Given the description of an element on the screen output the (x, y) to click on. 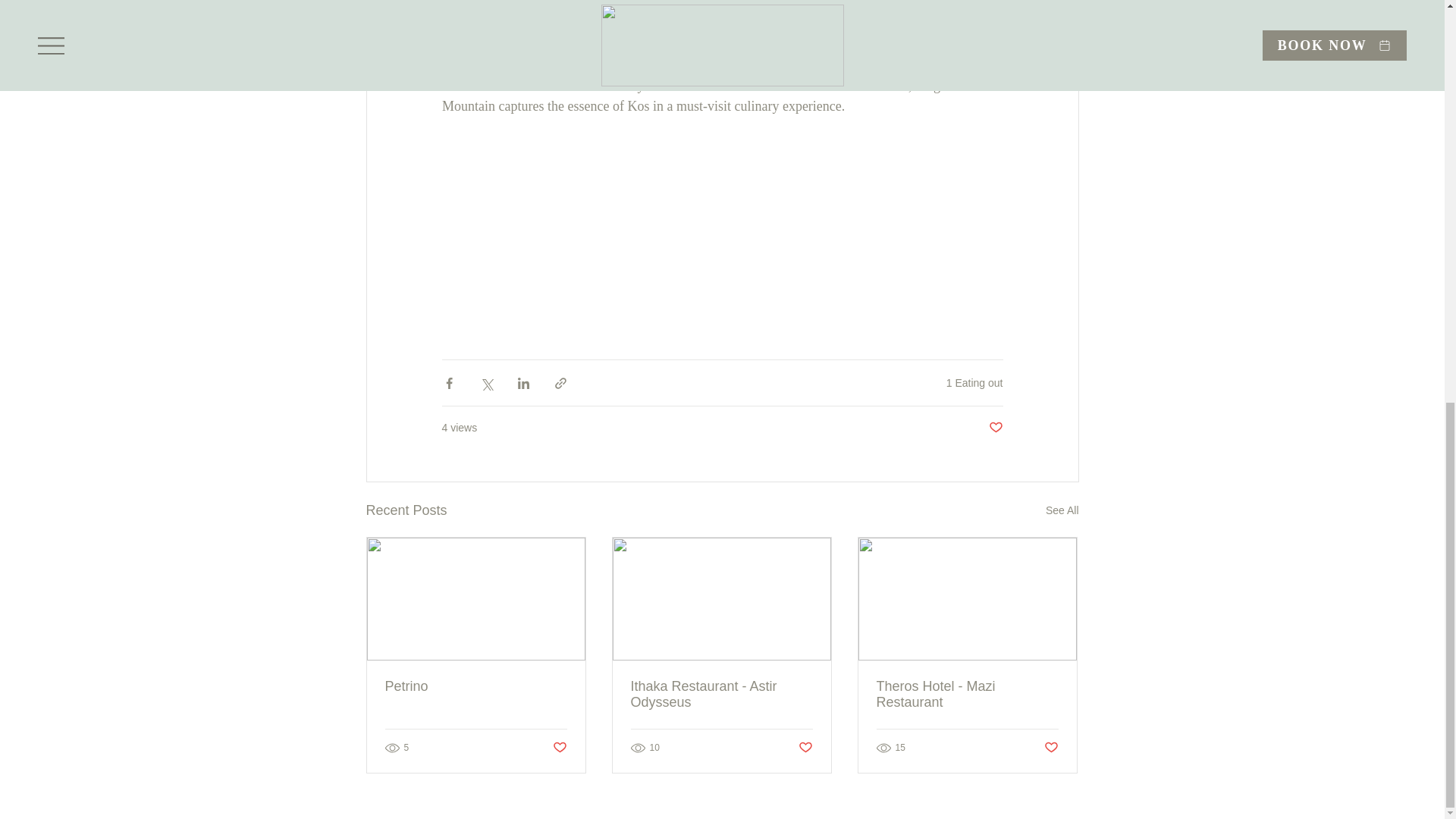
Post not marked as liked (995, 427)
Theros Hotel - Mazi Restaurant (967, 694)
Petrino (476, 686)
Post not marked as liked (1050, 747)
See All (1061, 510)
Post not marked as liked (558, 747)
Post not marked as liked (804, 747)
1 Eating out (974, 382)
Ithaka Restaurant - Astir Odysseus (721, 694)
